Given the description of an element on the screen output the (x, y) to click on. 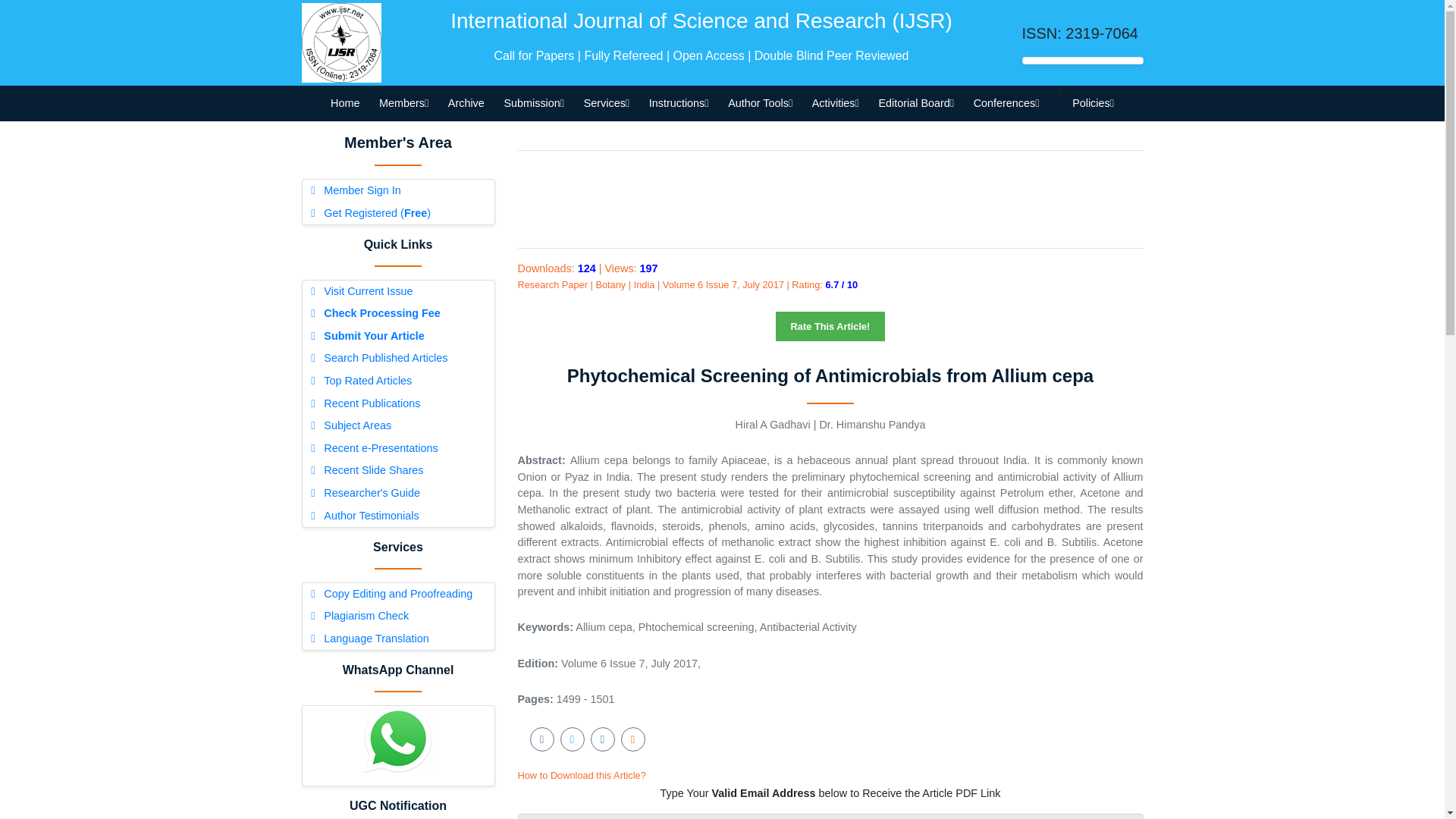
Author Tools (759, 103)
Members (403, 103)
Archive (466, 103)
Services (606, 103)
Instructions (678, 103)
Home (344, 103)
Home (344, 103)
Submission (534, 103)
Archive (466, 103)
Activities (835, 103)
